Given the description of an element on the screen output the (x, y) to click on. 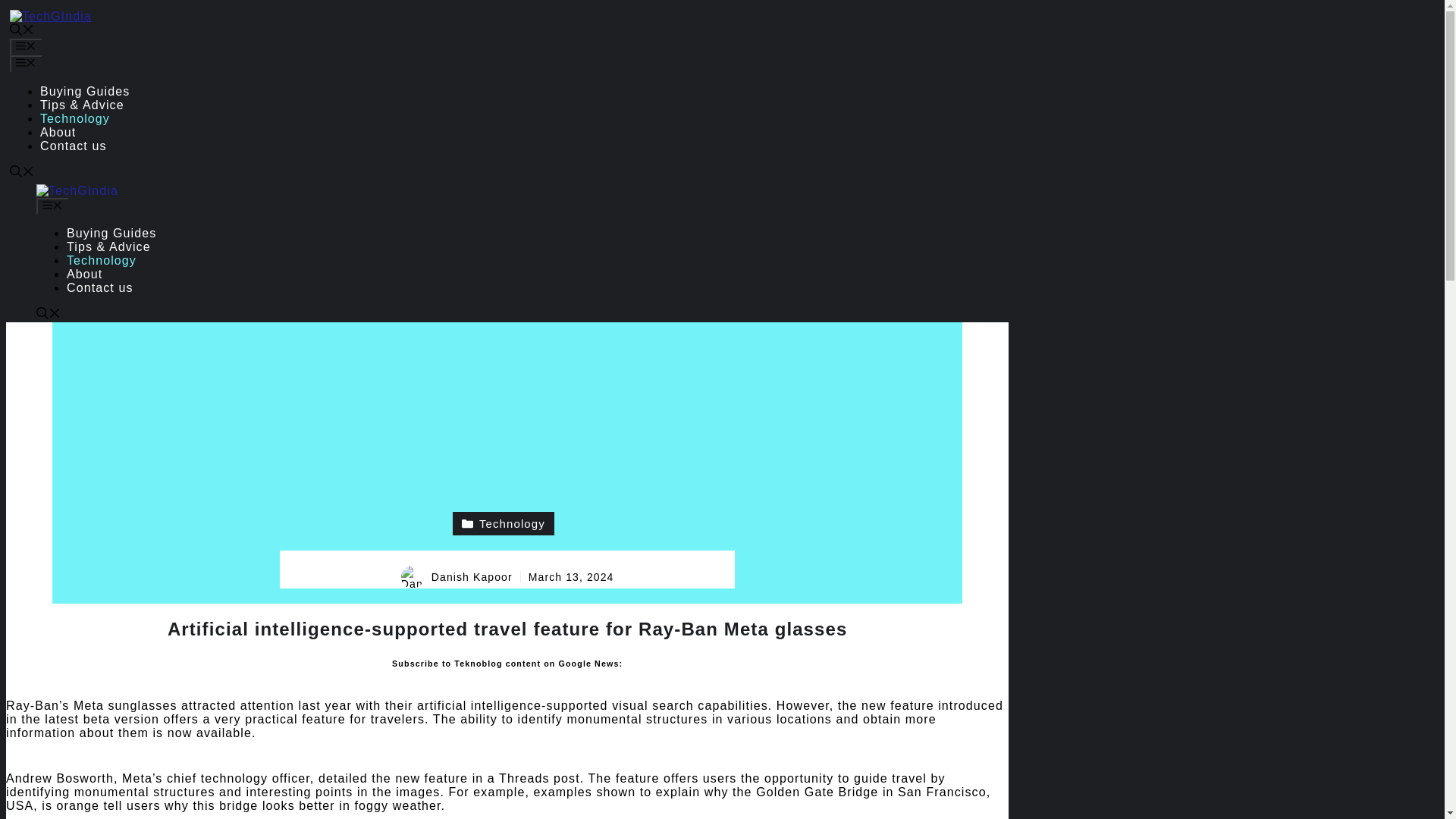
Menu (26, 46)
Contact us (99, 287)
Menu (52, 206)
Technology (75, 118)
Buying Guides (84, 91)
Buying Guides (110, 232)
Technology (502, 523)
Menu (26, 63)
About (57, 132)
